Given the description of an element on the screen output the (x, y) to click on. 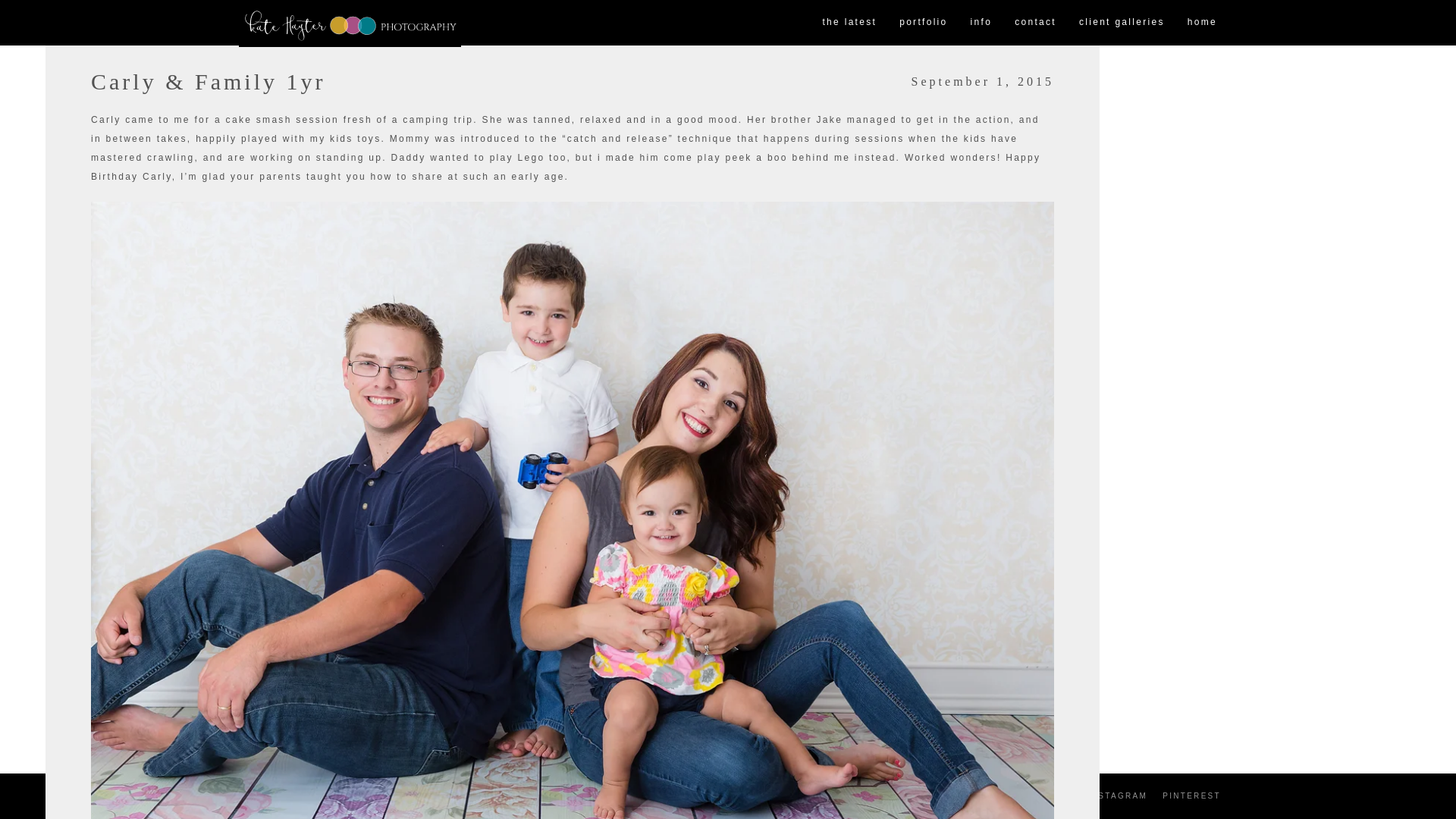
contact (1035, 22)
the latest (849, 22)
home (1202, 22)
client galleries (1121, 22)
info (981, 22)
PINTEREST (1191, 796)
portfolio (923, 22)
INSTAGRAM (1117, 796)
FACEBOOK (1043, 796)
